Given the description of an element on the screen output the (x, y) to click on. 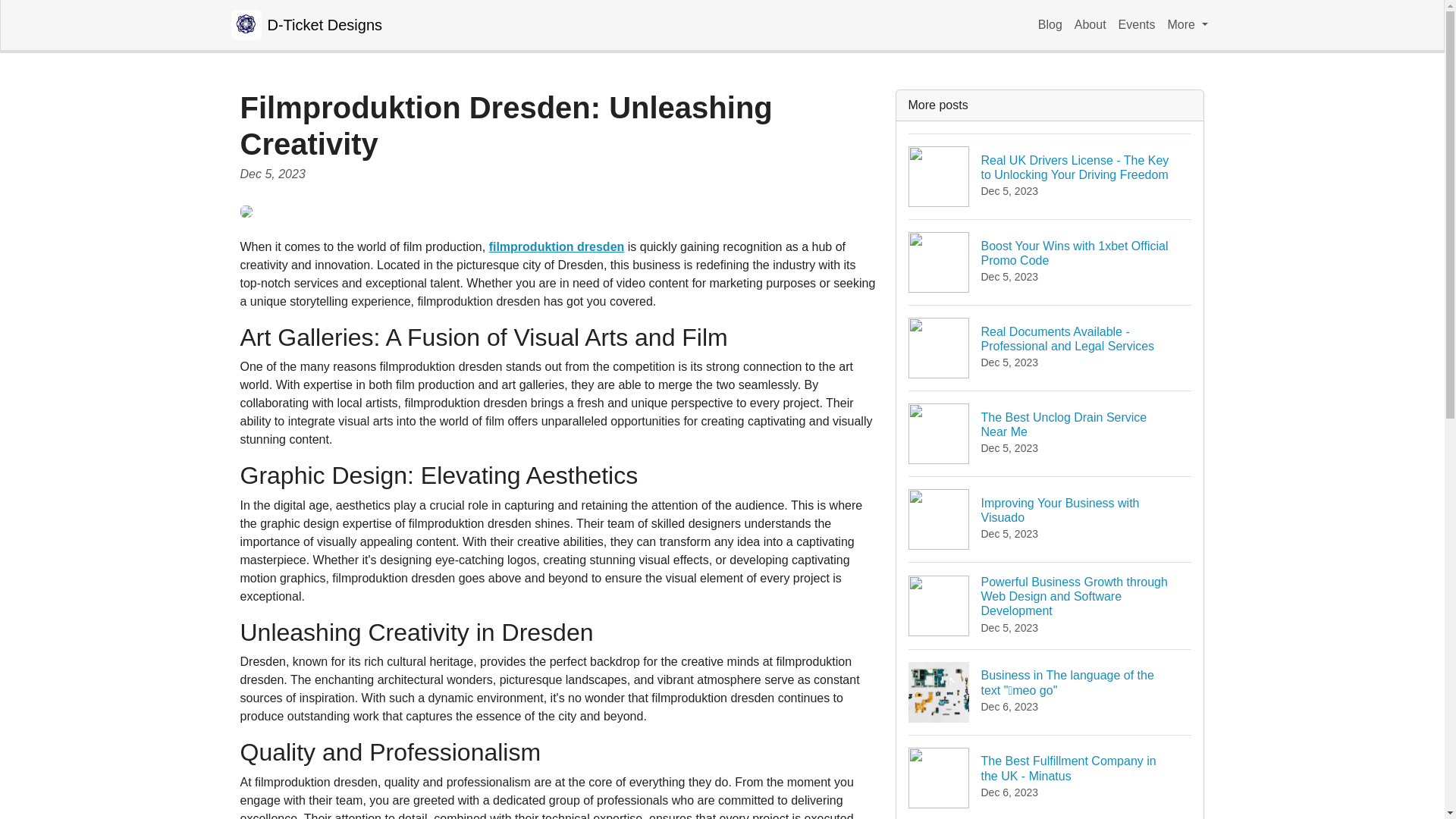
Events (1136, 24)
Blog (1050, 432)
More (1050, 24)
filmproduktion dresden (1050, 776)
About (1187, 24)
D-Ticket Designs (556, 246)
